Given the description of an element on the screen output the (x, y) to click on. 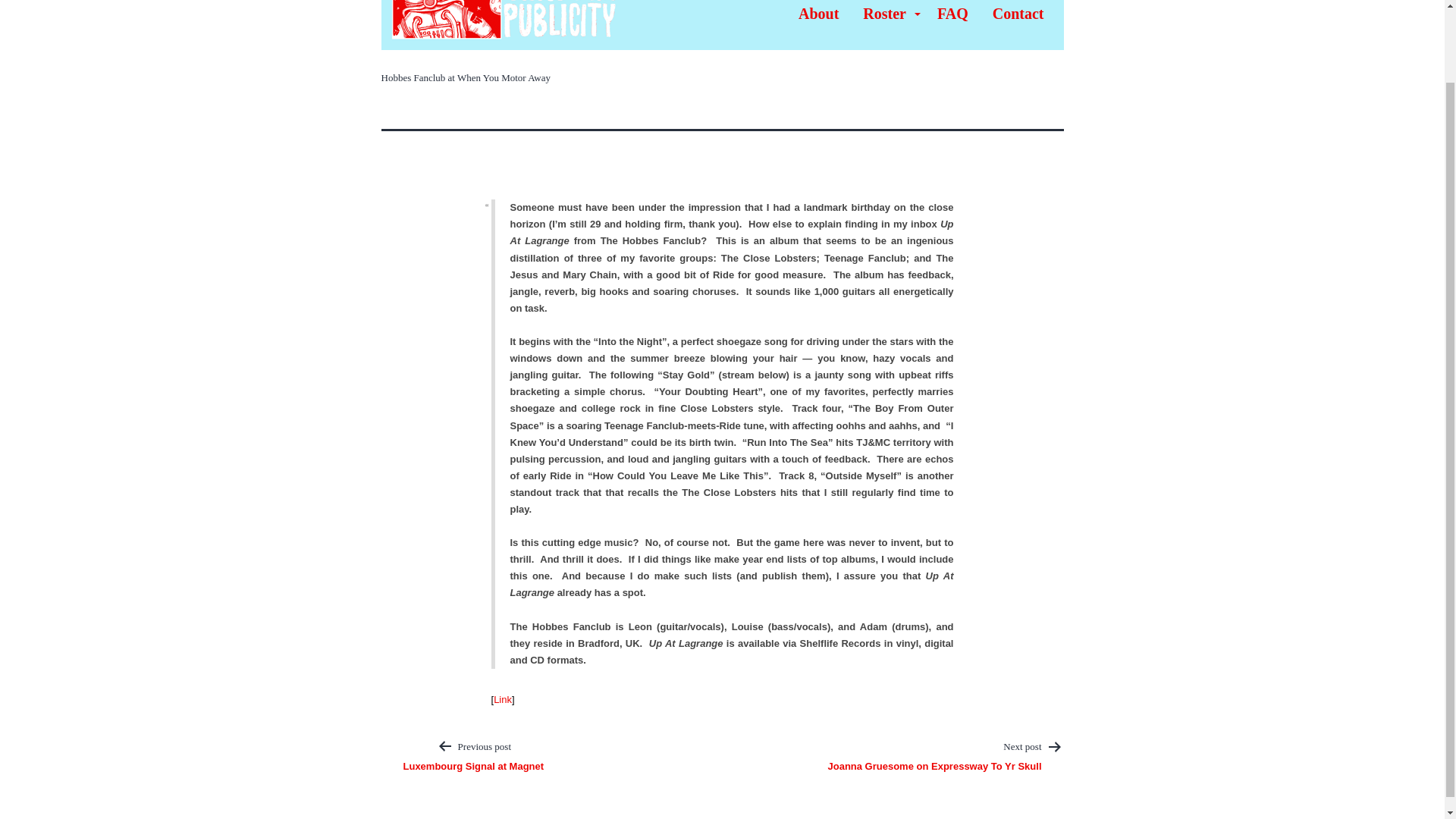
About (818, 13)
Contact (1018, 13)
Roster (887, 13)
Link (502, 699)
FAQ (951, 13)
